Given the description of an element on the screen output the (x, y) to click on. 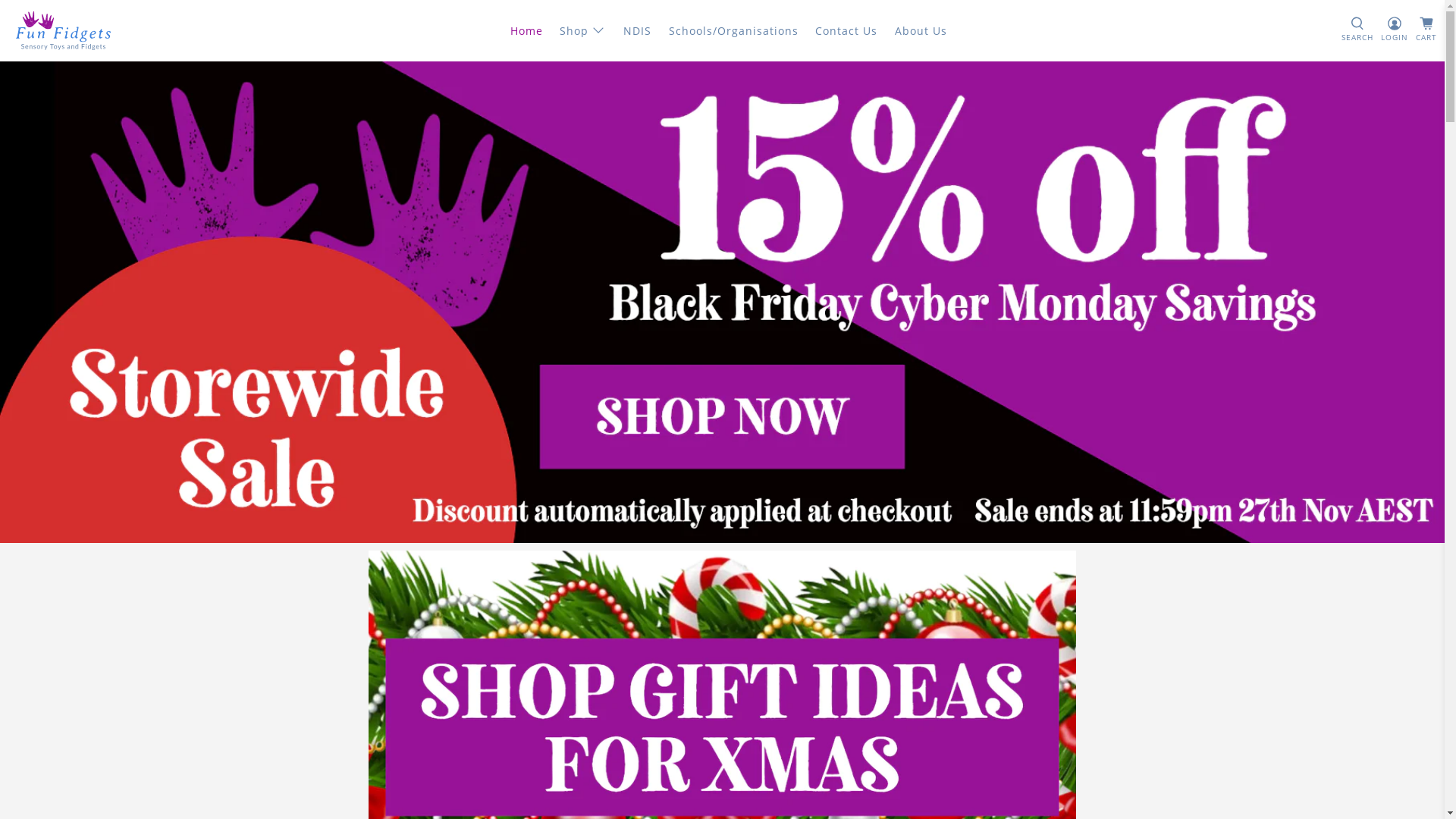
Schools/Organisations Element type: text (733, 30)
NDIS Element type: text (637, 30)
Shop Element type: text (583, 30)
About Us Element type: text (921, 30)
Home Element type: text (526, 30)
Contact Us Element type: text (846, 30)
Fun Fidgets | Sensory Toys and Fidgets Element type: hover (62, 30)
LOGIN Element type: text (1394, 30)
SEARCH Element type: text (1357, 30)
CART Element type: text (1426, 29)
